Given the description of an element on the screen output the (x, y) to click on. 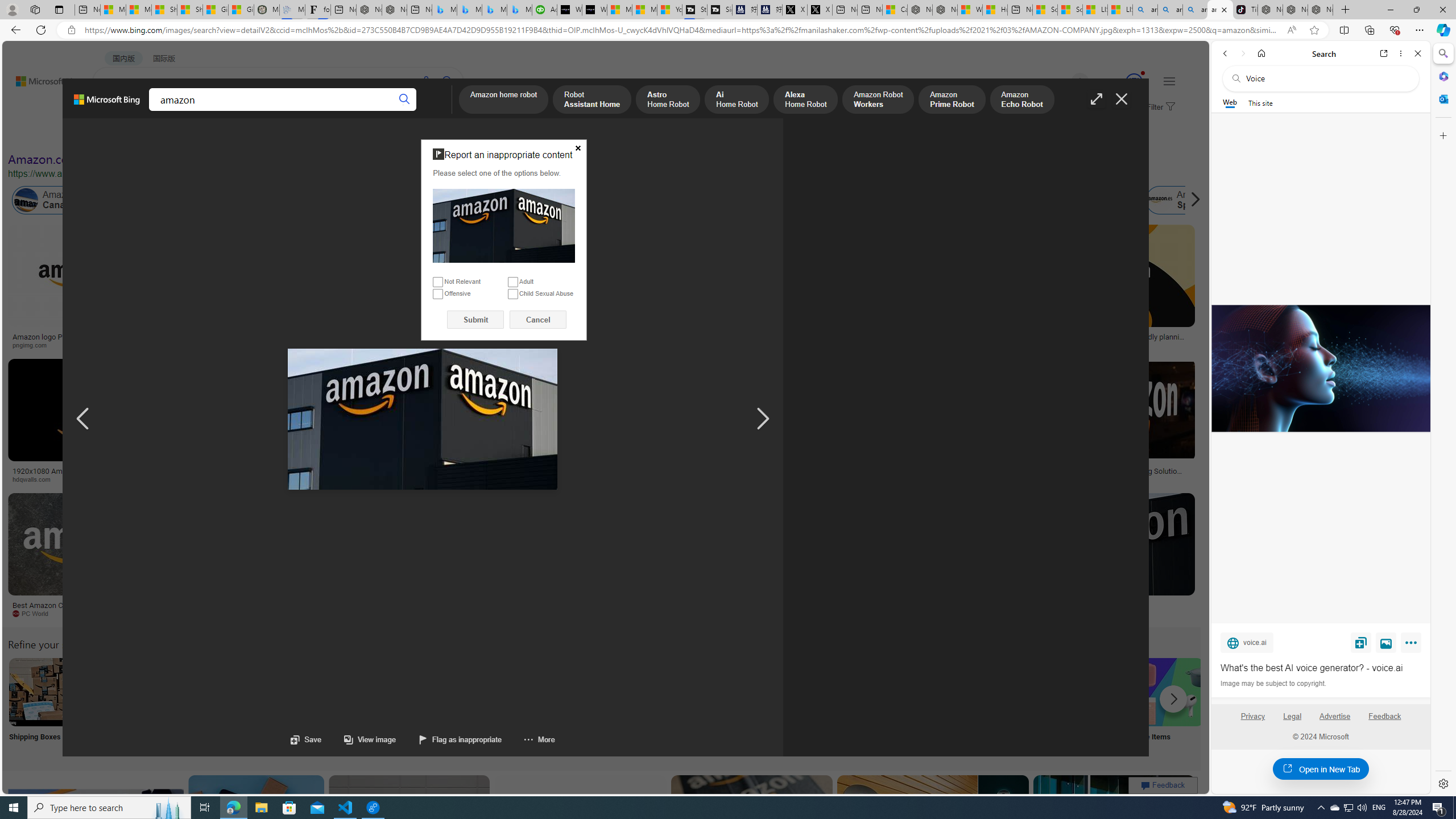
Dropdown Menu (443, 111)
MORE (443, 111)
Amazon Animals (401, 200)
